Given the description of an element on the screen output the (x, y) to click on. 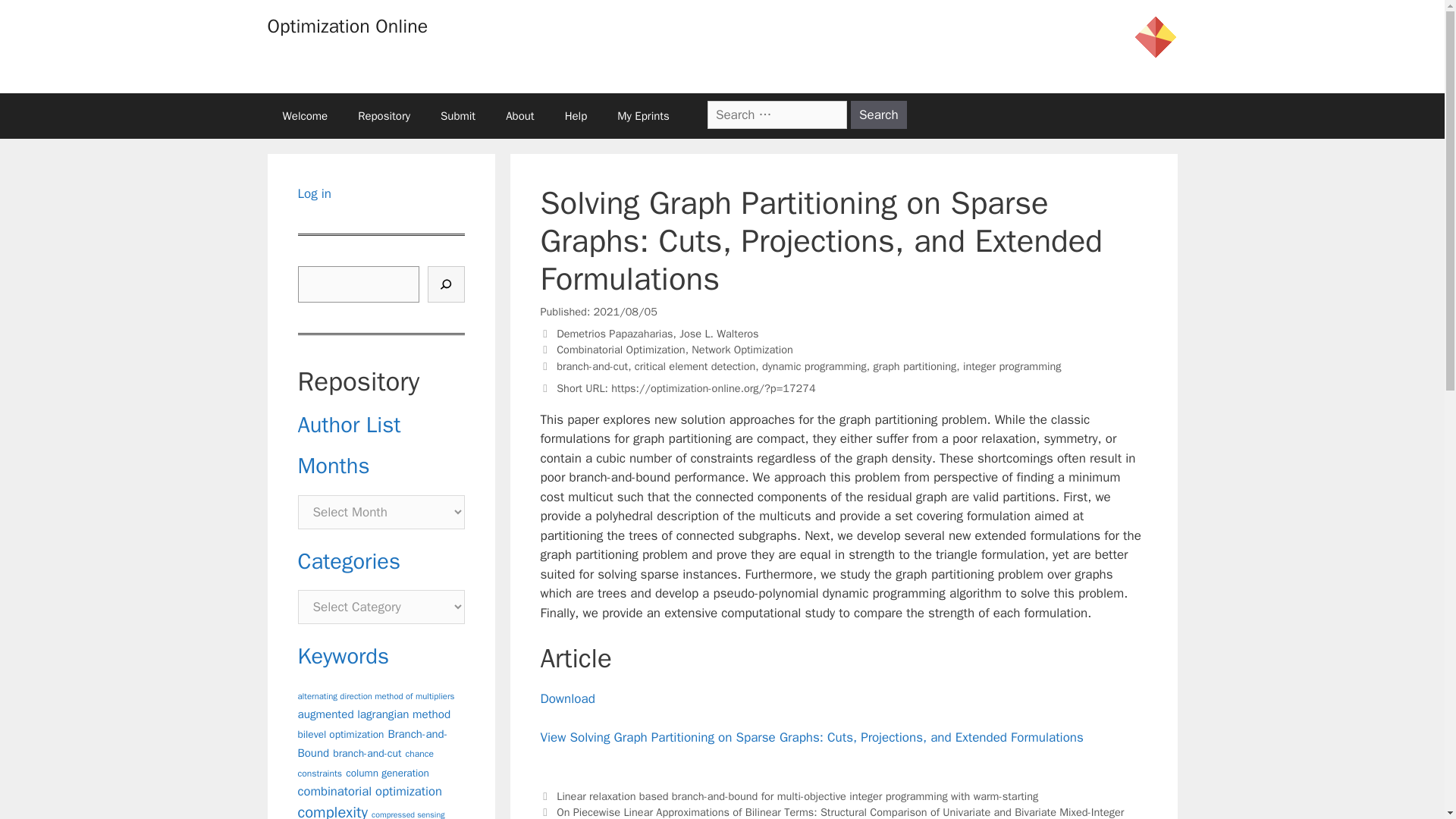
Keywords (342, 656)
Welcome (304, 115)
Jose L. Walteros (718, 333)
Author List (348, 424)
dynamic programming (813, 366)
Demetrios Papazaharias (614, 333)
integer programming (1011, 366)
Search (878, 113)
Download (567, 698)
Next (832, 812)
Repository (383, 115)
Help (576, 115)
compressed sensing (407, 814)
augmented lagrangian method (373, 713)
Combinatorial Optimization (620, 349)
